Given the description of an element on the screen output the (x, y) to click on. 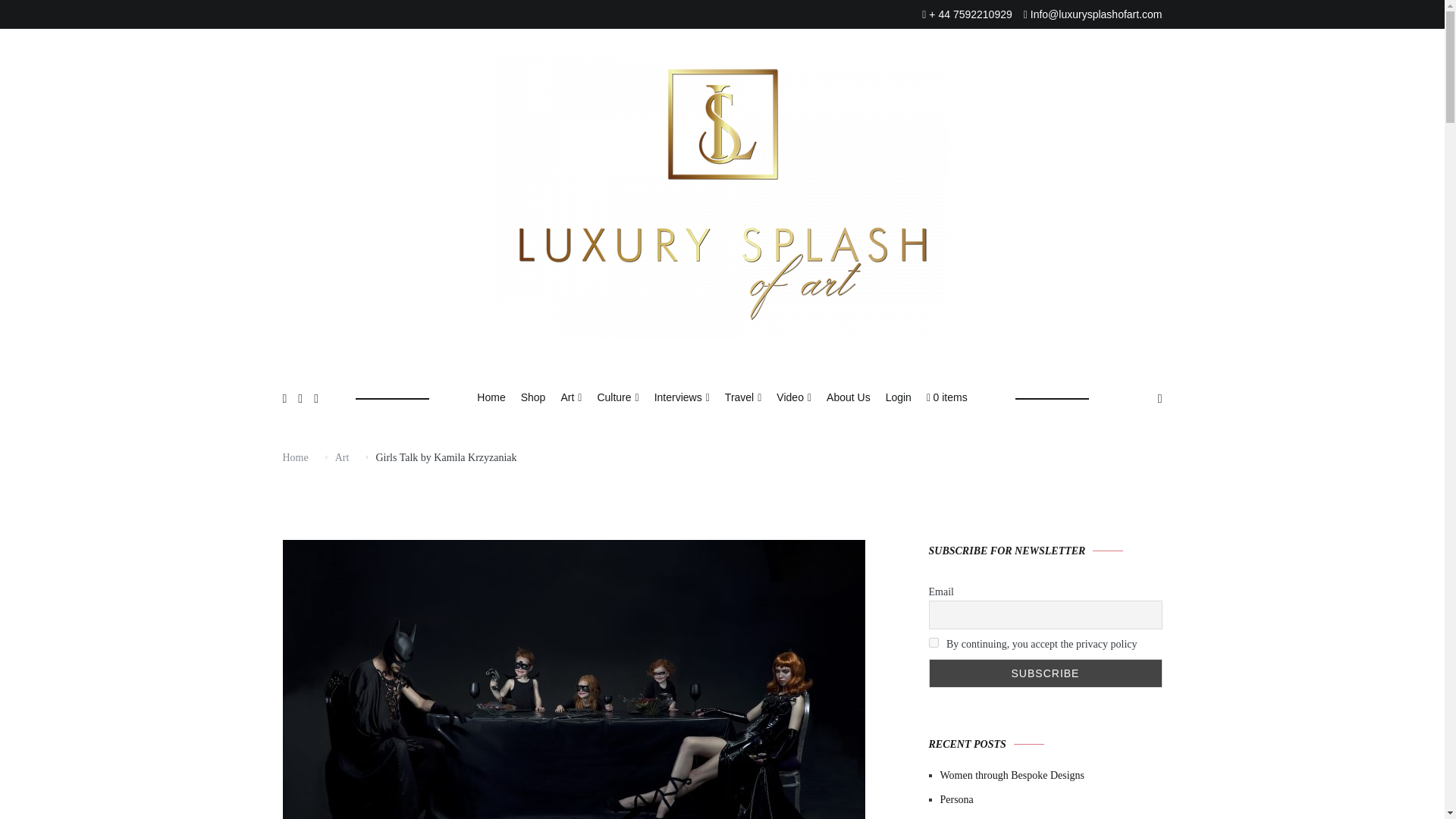
Luxury Splash of Art (690, 405)
Start shopping (947, 398)
on (932, 642)
Subscribe (1044, 673)
